Given the description of an element on the screen output the (x, y) to click on. 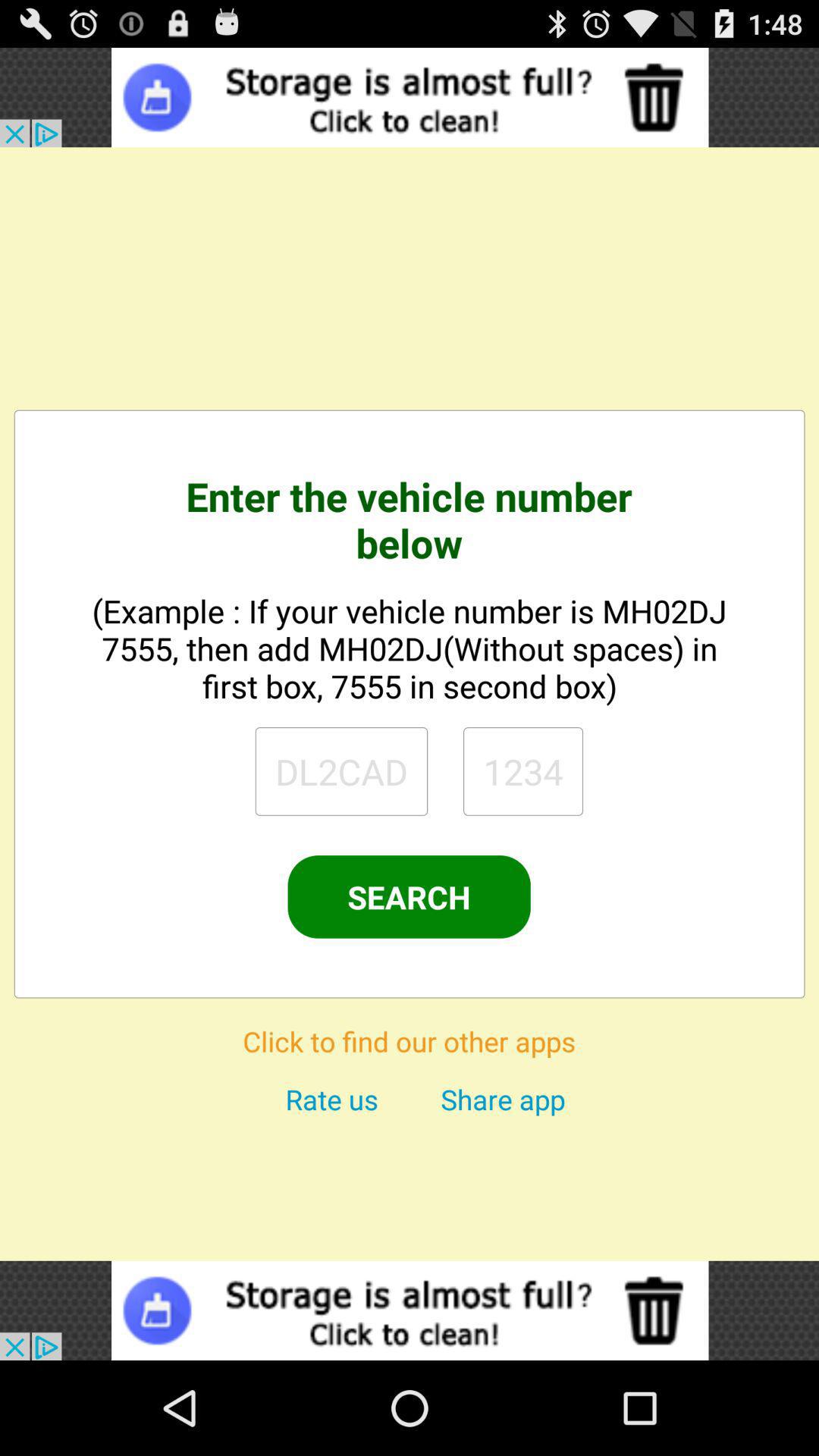
write vehicle number (522, 771)
